Given the description of an element on the screen output the (x, y) to click on. 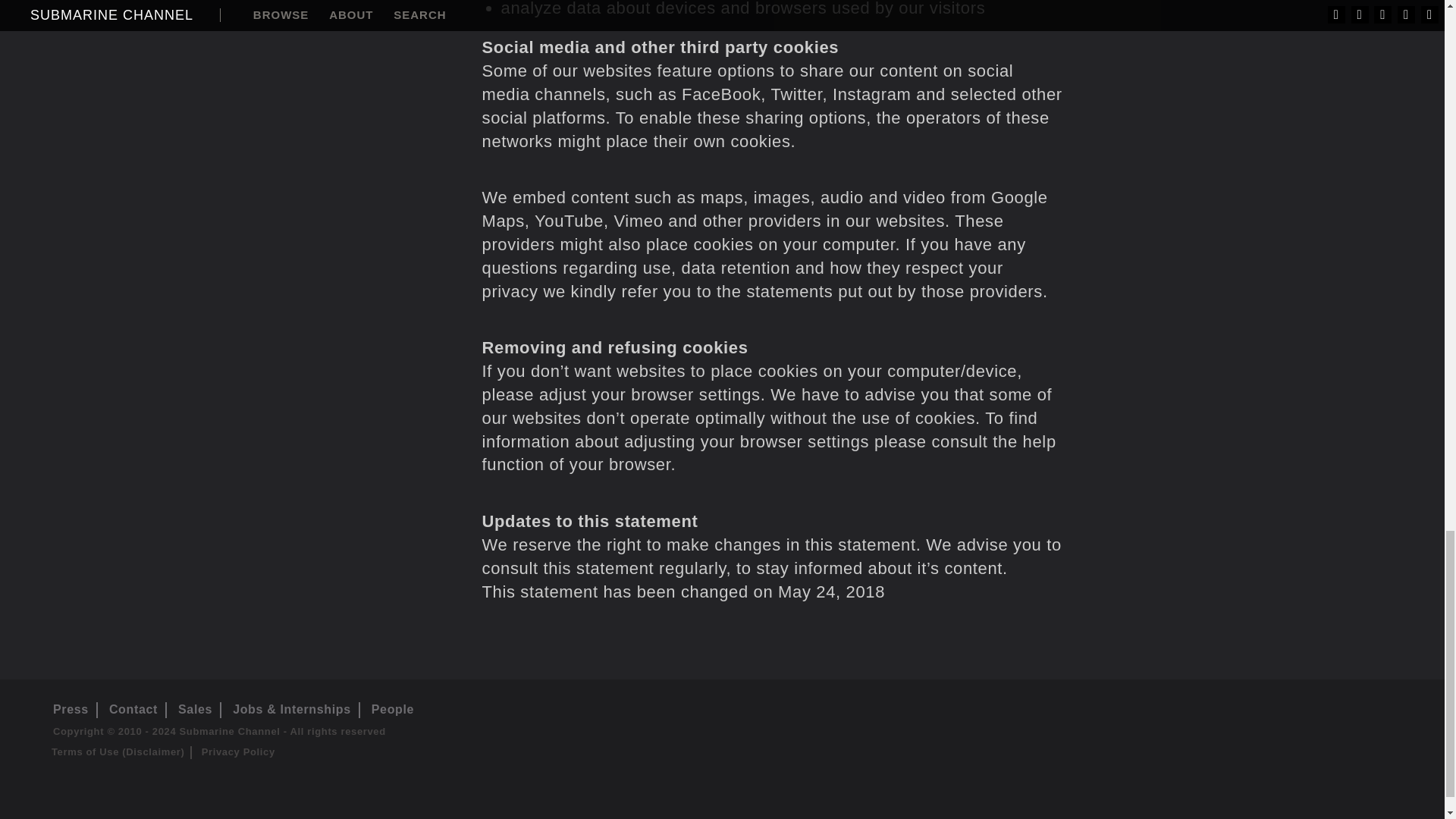
Privacy Policy (238, 751)
Contact (133, 708)
People (392, 708)
Press (70, 708)
Sales (194, 708)
